Given the description of an element on the screen output the (x, y) to click on. 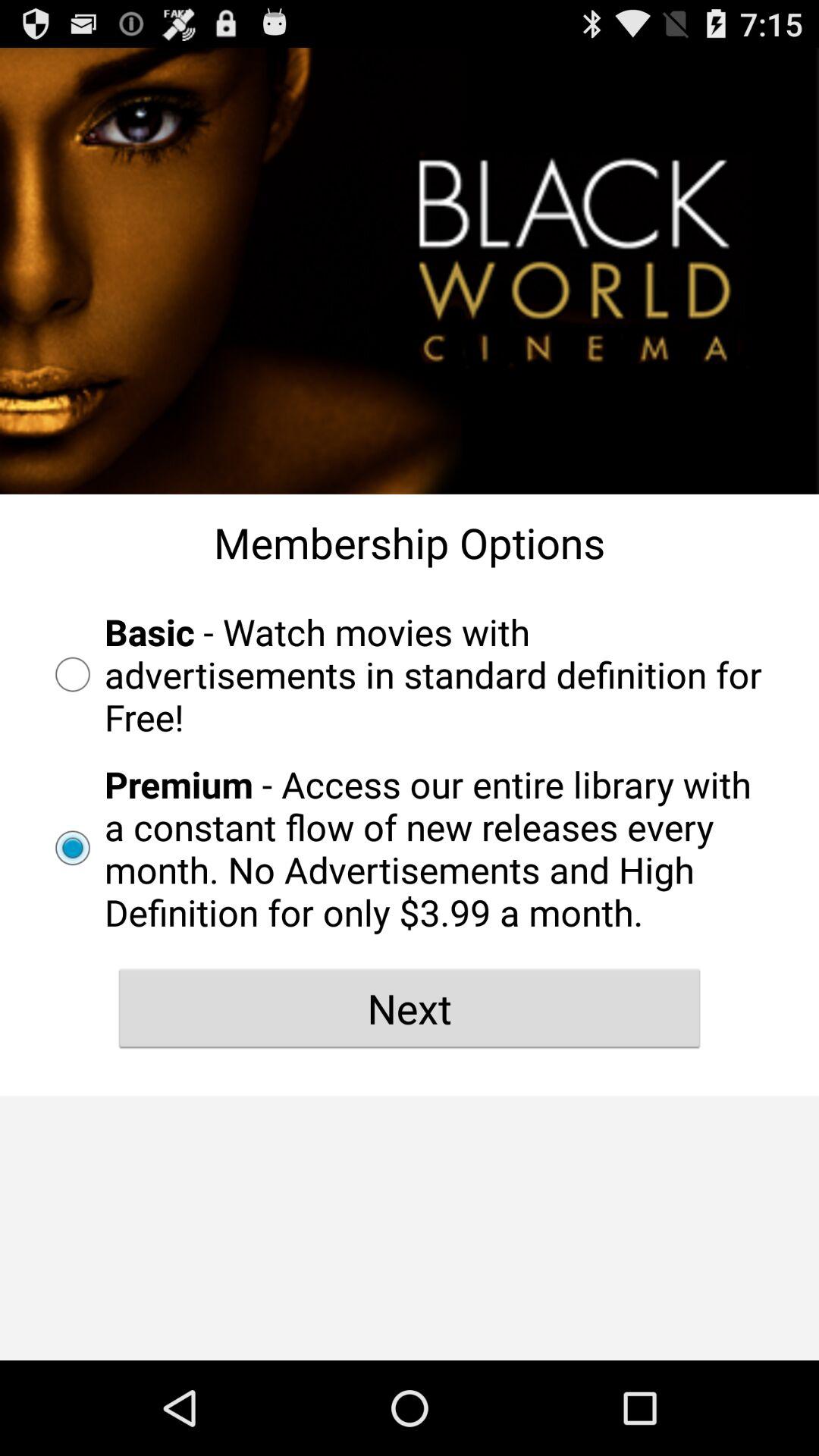
select item above the premium access our icon (409, 674)
